Given the description of an element on the screen output the (x, y) to click on. 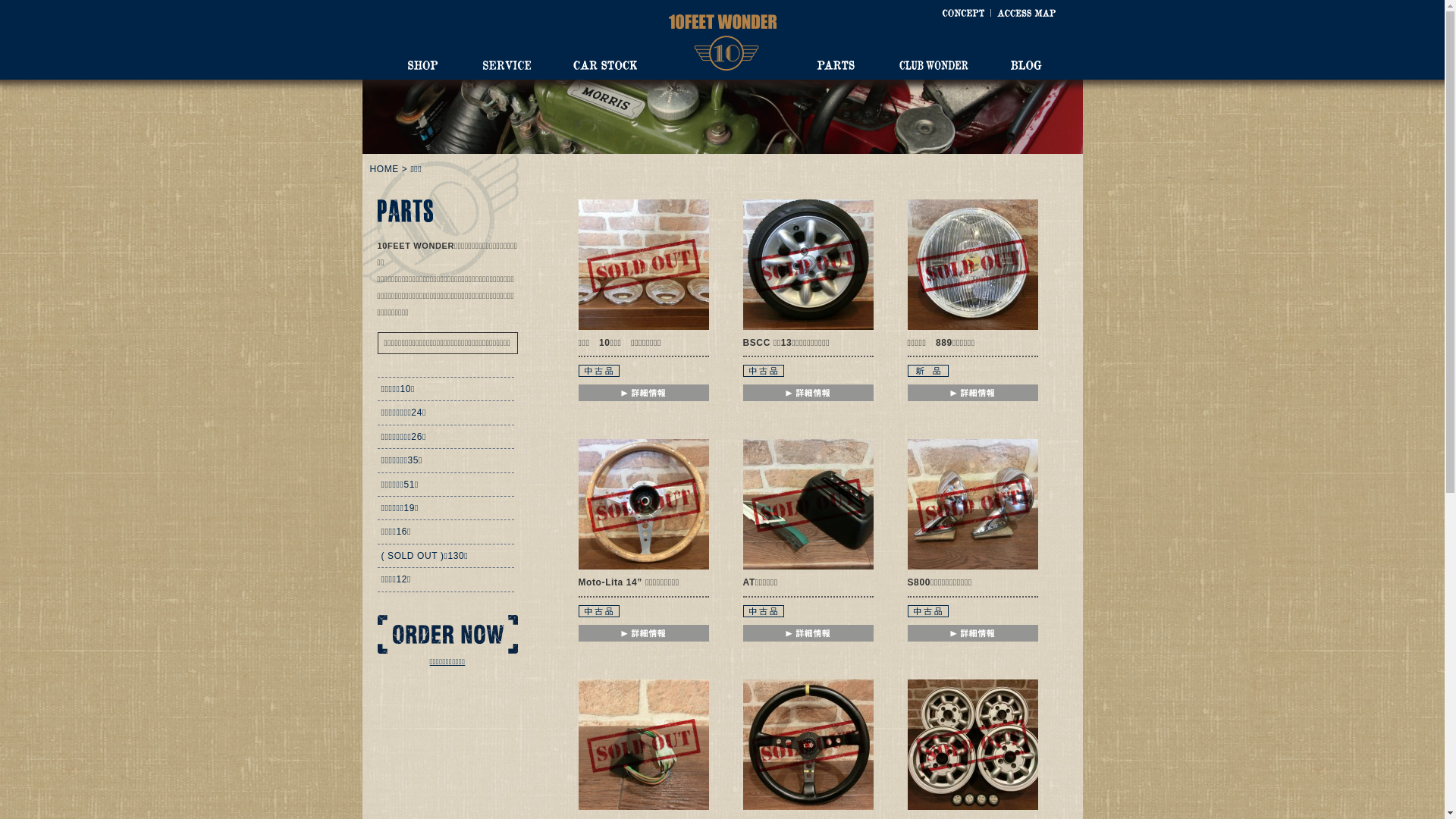
SERVICE Element type: text (506, 64)
HOME Element type: text (384, 168)
CLUB WONDER Element type: text (933, 64)
BLOG Element type: text (1025, 64)
PARTS Element type: text (834, 64)
SHOP Element type: text (422, 64)
CAR STOCK Element type: text (605, 64)
